Given the description of an element on the screen output the (x, y) to click on. 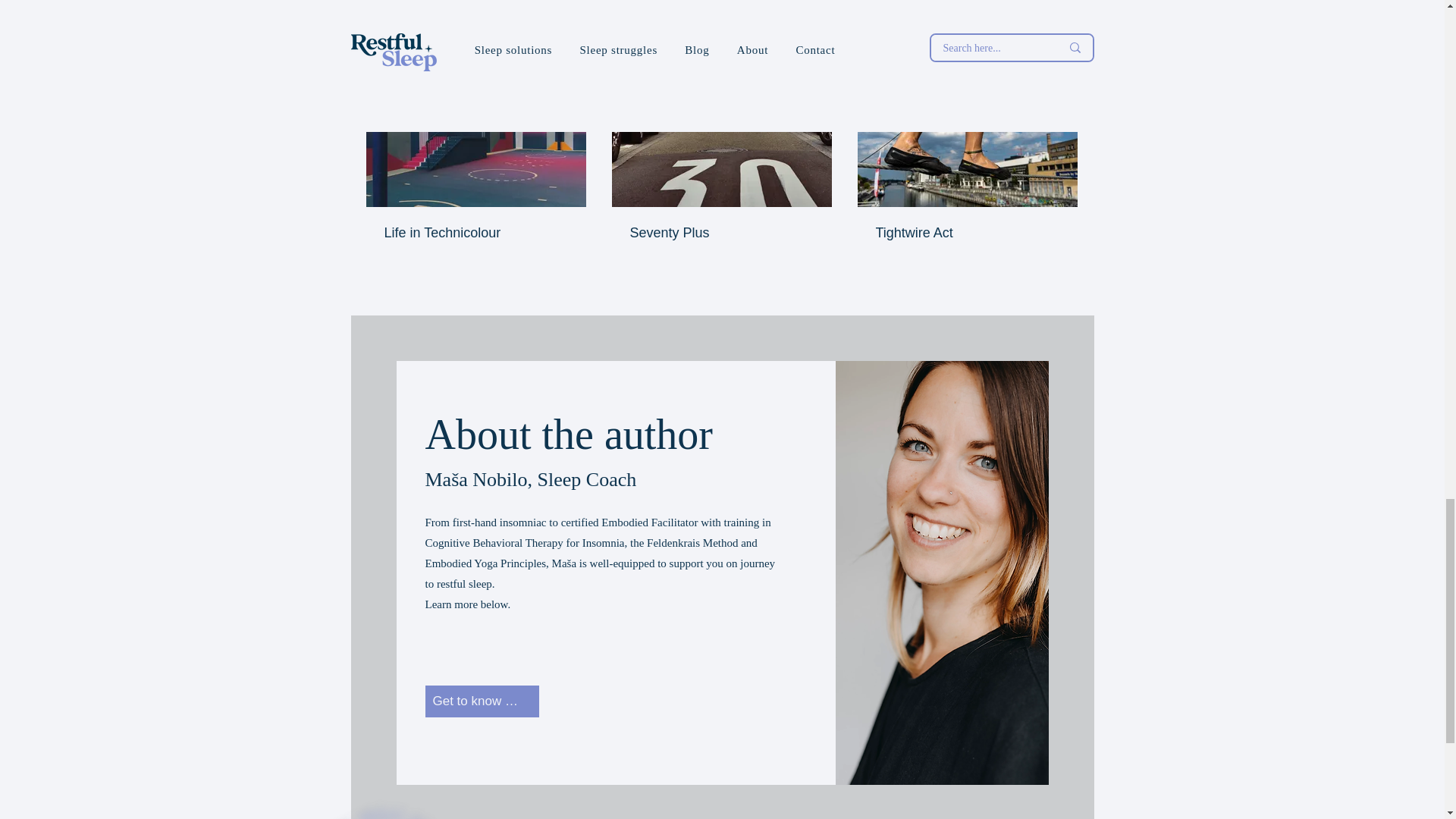
Tightwire Act (966, 232)
Life in Technicolour (475, 232)
Seventy Plus (720, 232)
